Given the description of an element on the screen output the (x, y) to click on. 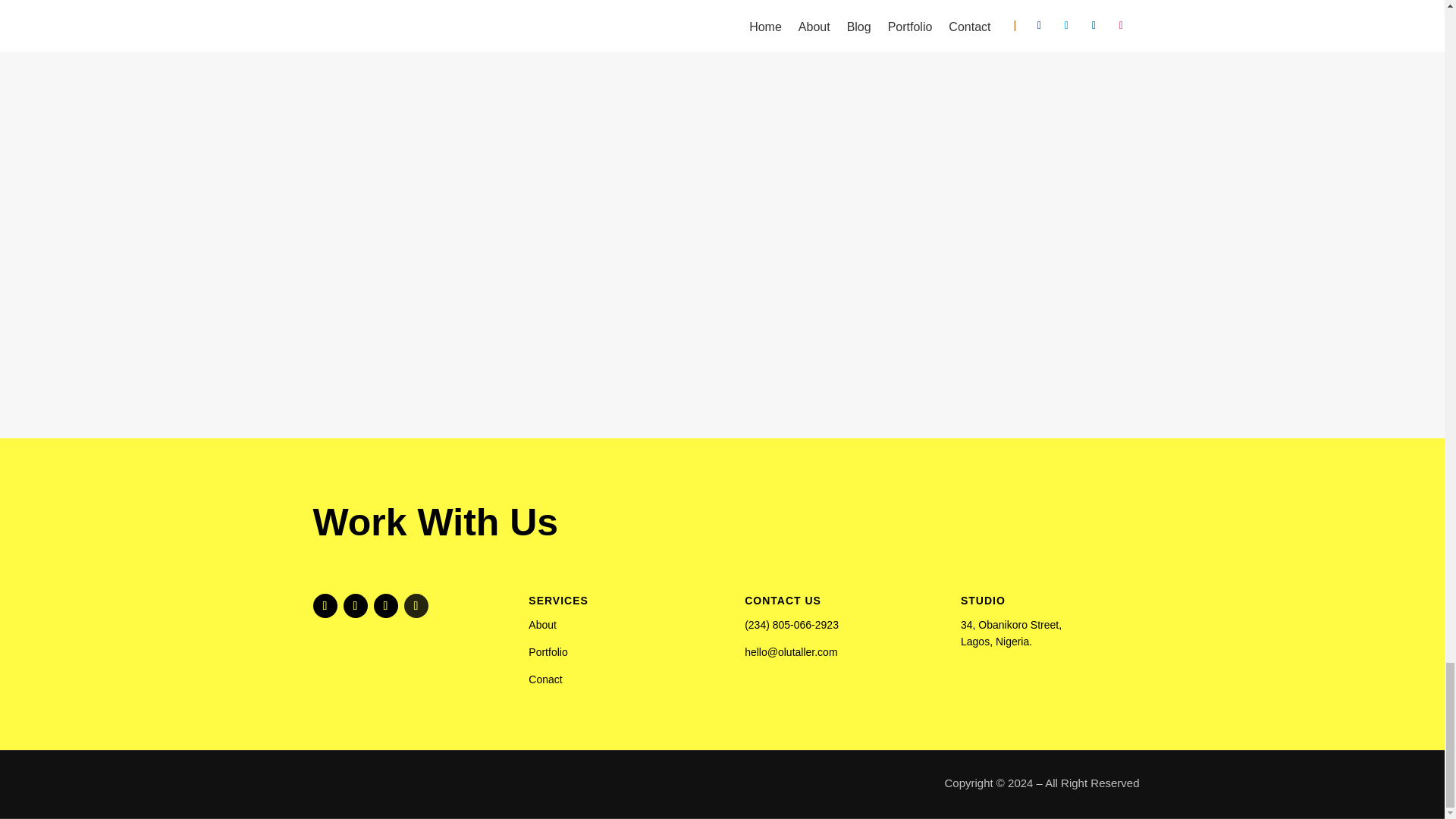
Follow on Instagram (415, 605)
Follow on LinkedIn (384, 605)
Follow on Facebook (324, 605)
Follow on X (354, 605)
